Given the description of an element on the screen output the (x, y) to click on. 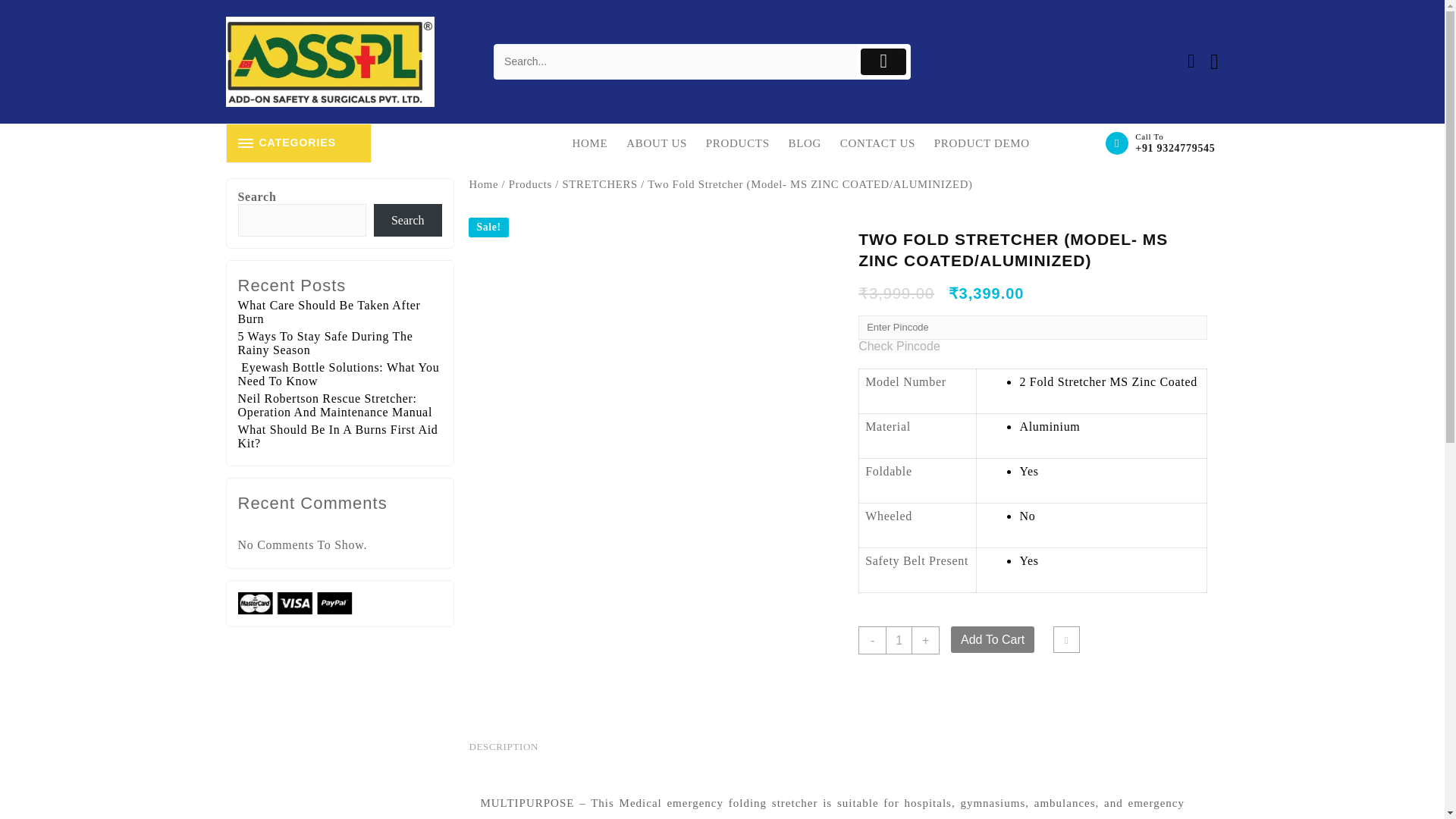
Submit (883, 61)
1 (898, 640)
HOME (597, 142)
Search (676, 61)
